Given the description of an element on the screen output the (x, y) to click on. 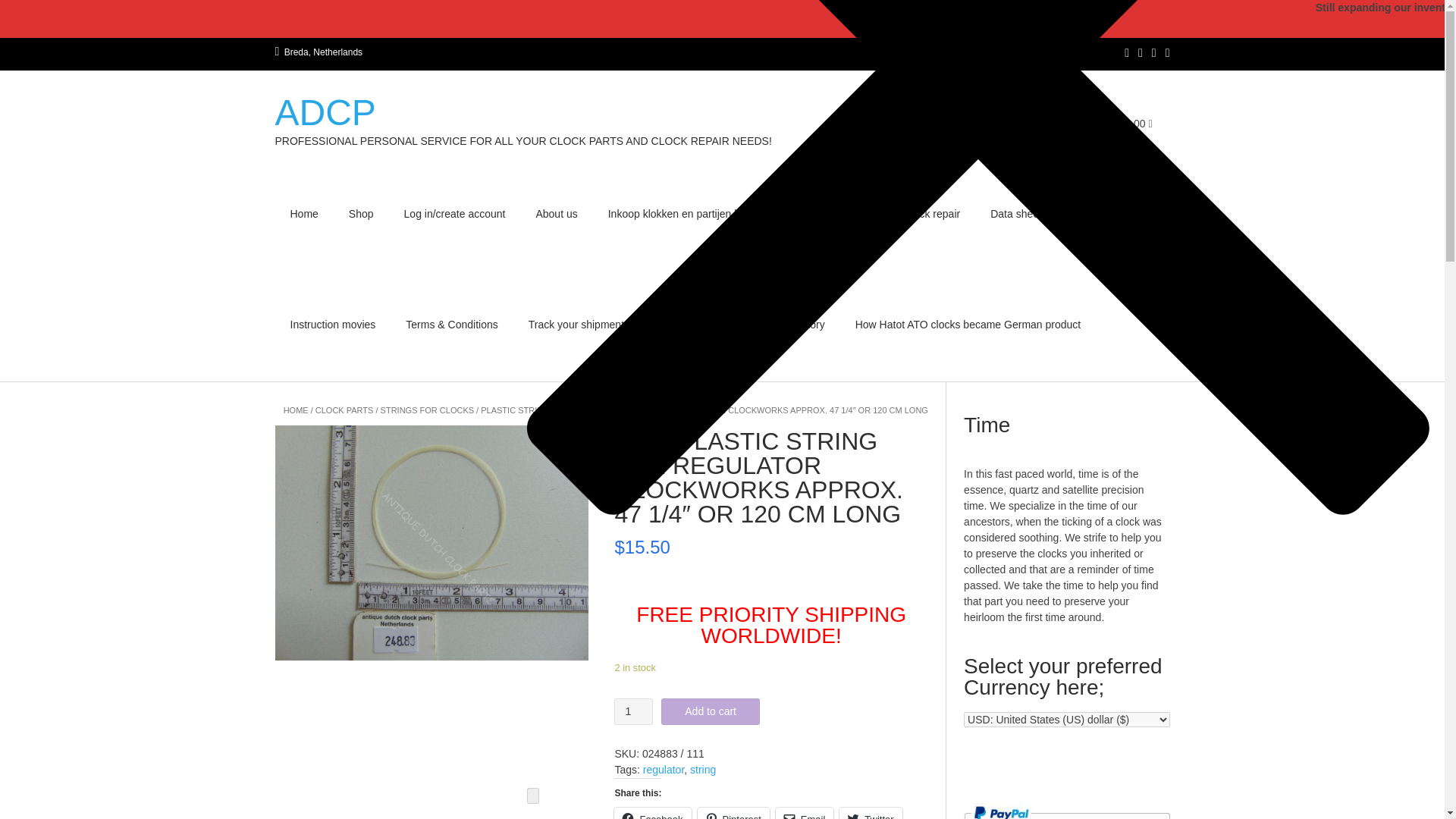
The Warmink story (780, 326)
How Hatot ATO clocks became German product (968, 326)
Twitter (870, 813)
ADCP (523, 113)
1 (633, 710)
Instruction movies (332, 326)
Pinterest (733, 813)
Track your shipment (576, 326)
Click to share on Twitter (870, 813)
STRINGS FOR CLOCKS (427, 409)
regulator (663, 768)
Facebook (652, 813)
Click to share on Facebook (652, 813)
CLOCK PARTS (344, 409)
ADCP (523, 113)
